Given the description of an element on the screen output the (x, y) to click on. 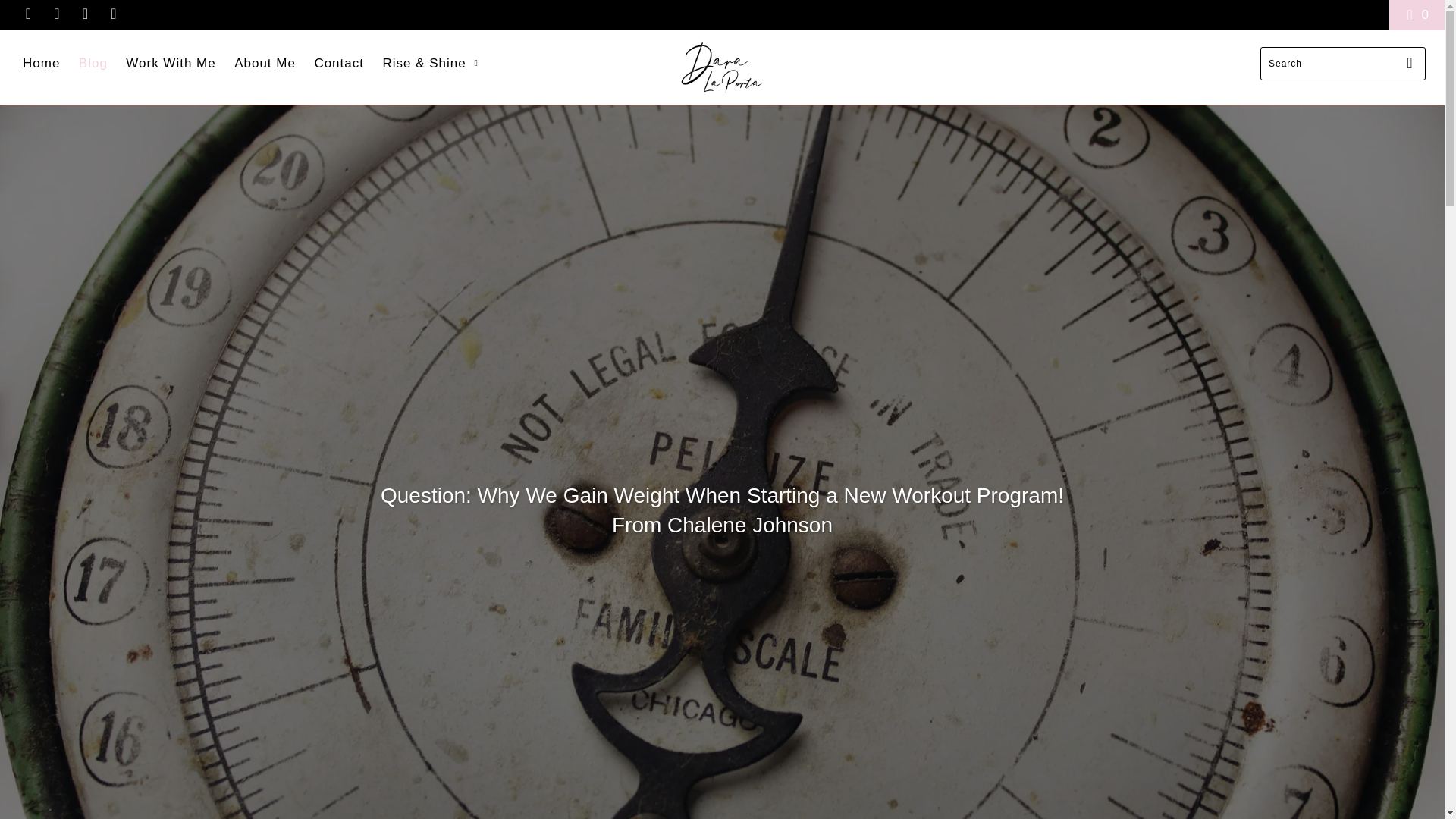
Work With Me (170, 64)
fit2shine on Facebook (27, 14)
fit2shine on YouTube (55, 14)
fit2shine on Instagram (84, 14)
Email fit2shine (111, 14)
fit2shine (722, 67)
Home (41, 64)
About Me (264, 64)
